Given the description of an element on the screen output the (x, y) to click on. 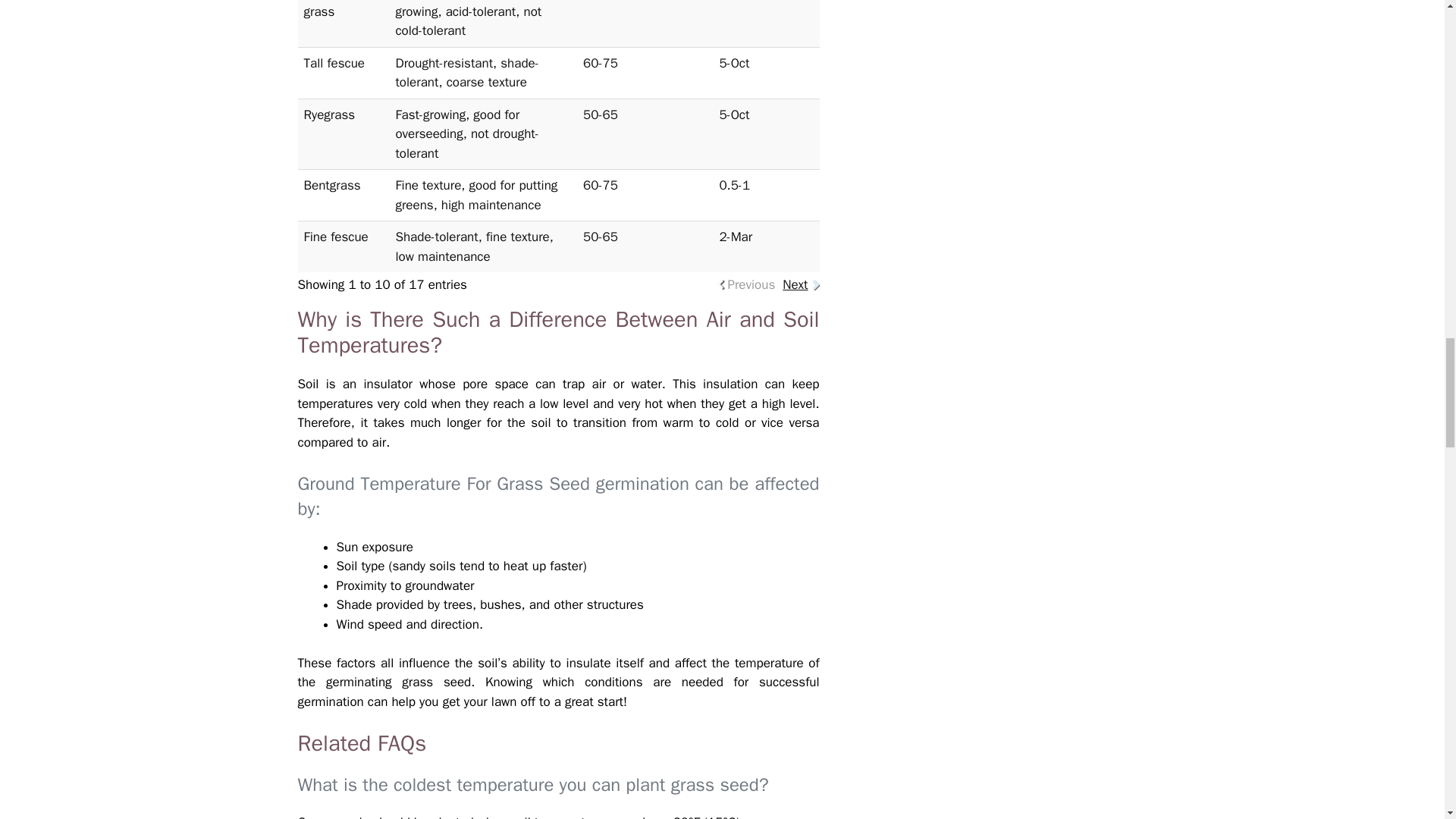
Previous (750, 284)
Next (795, 284)
